Given the description of an element on the screen output the (x, y) to click on. 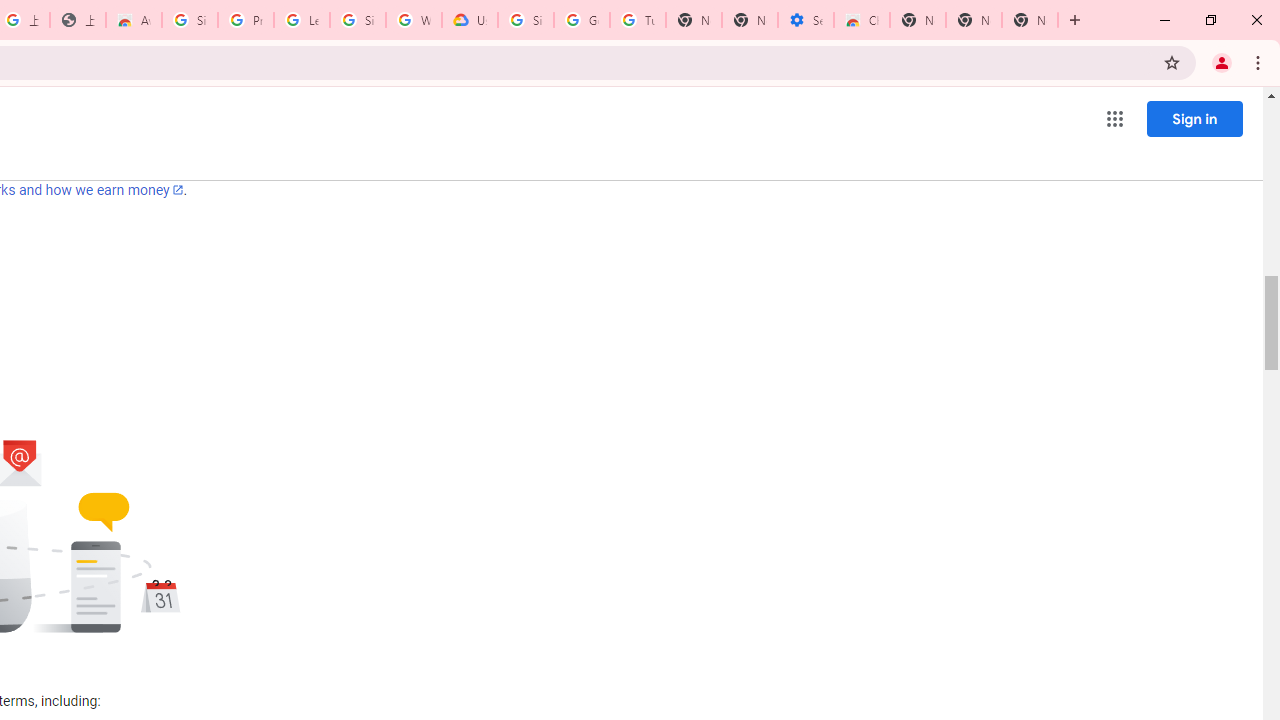
Sign in - Google Accounts (525, 20)
New Tab (1030, 20)
Sign in - Google Accounts (189, 20)
Awesome Screen Recorder & Screenshot - Chrome Web Store (134, 20)
